Given the description of an element on the screen output the (x, y) to click on. 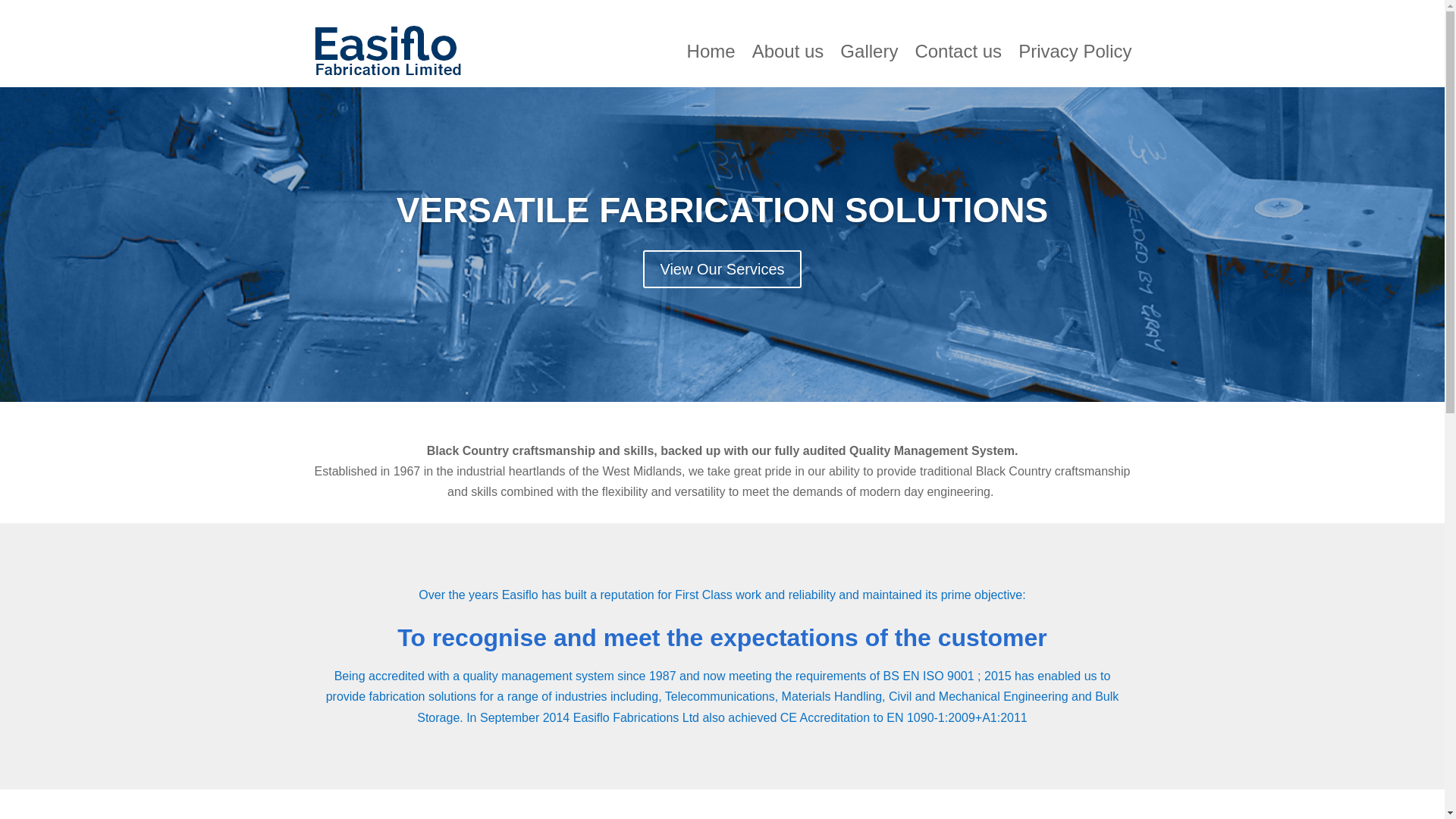
Gallery (869, 51)
Privacy Policy (1074, 51)
About us (788, 51)
Contact us (957, 51)
